Given the description of an element on the screen output the (x, y) to click on. 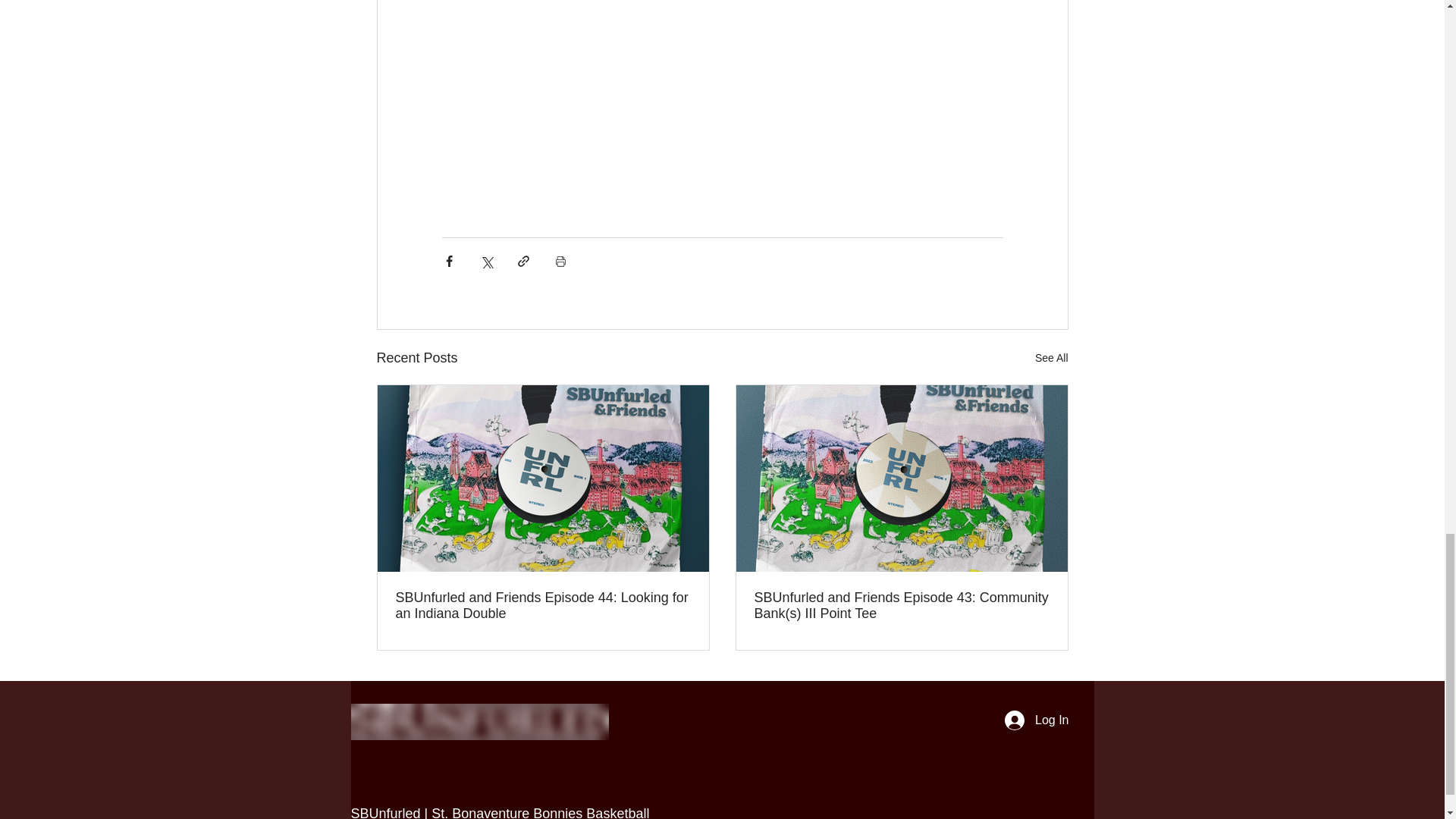
Log In (1036, 719)
See All (1051, 358)
